Given the description of an element on the screen output the (x, y) to click on. 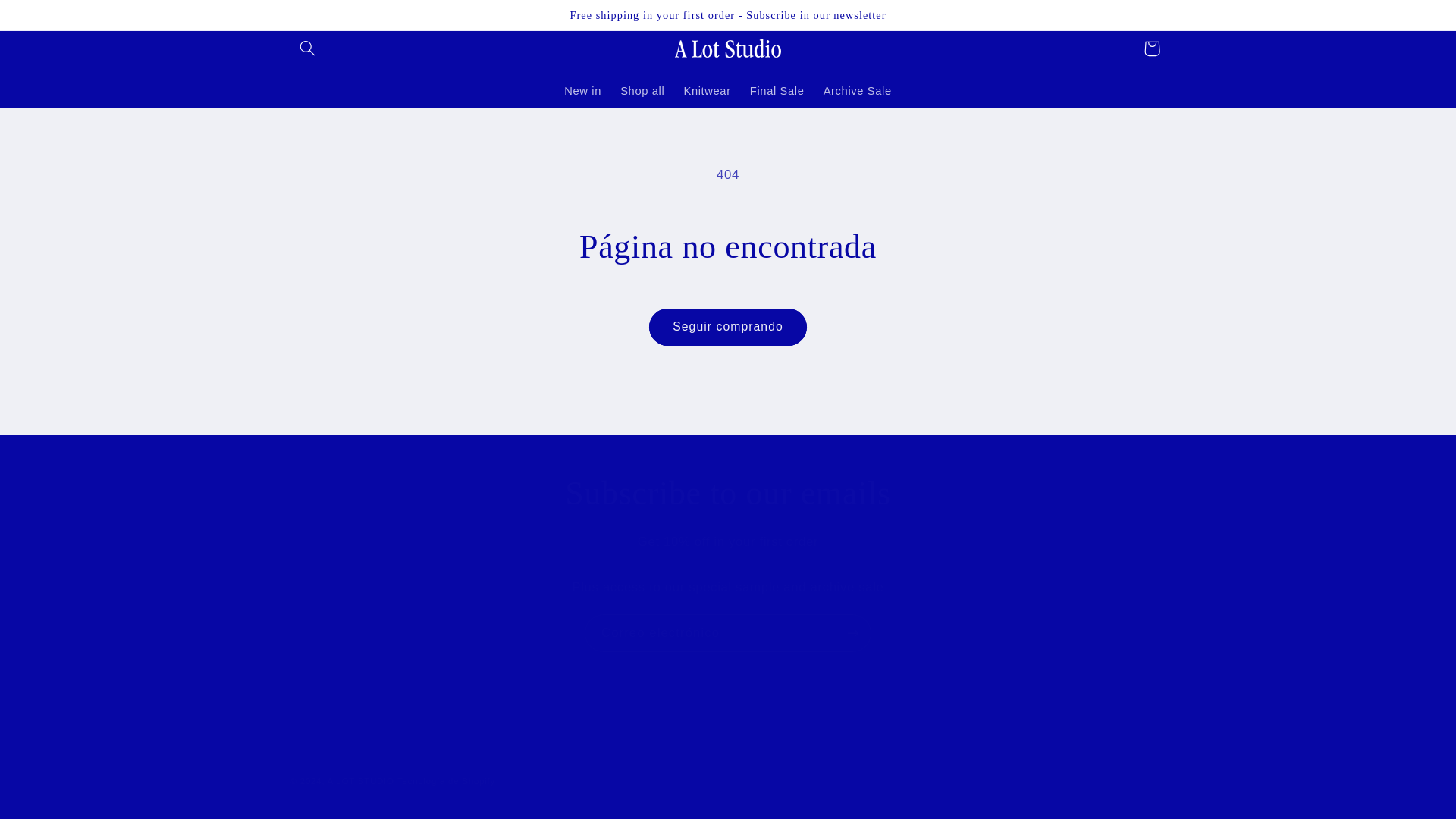
New in (582, 90)
Shop all (642, 90)
A LOT STUDIO (360, 780)
Subscribe to our emails (727, 493)
Ir directamente al contenido (48, 18)
Seguir comprando (728, 326)
Archive Sale (857, 90)
Carrito (1151, 48)
Knitwear (706, 90)
Final Sale (776, 90)
